Given the description of an element on the screen output the (x, y) to click on. 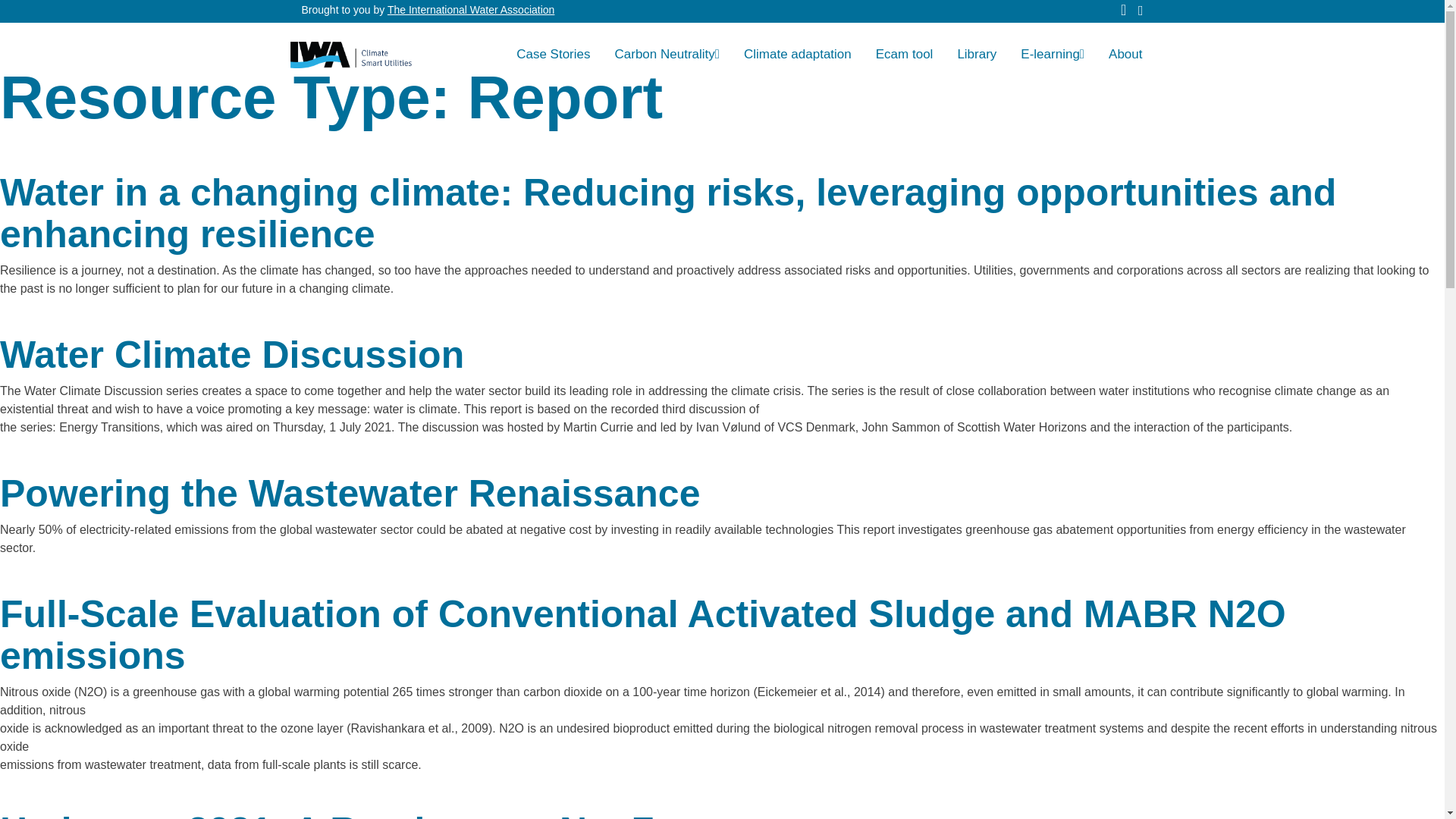
E-learning (1052, 54)
Library (976, 54)
Water Climate Discussion (232, 354)
The International Water Association (470, 9)
Case Stories (552, 54)
Ecam tool (903, 54)
Powering the Wastewater Renaissance (350, 493)
Hydrogen 2021: A Roadmap to Net Zero (356, 814)
